Given the description of an element on the screen output the (x, y) to click on. 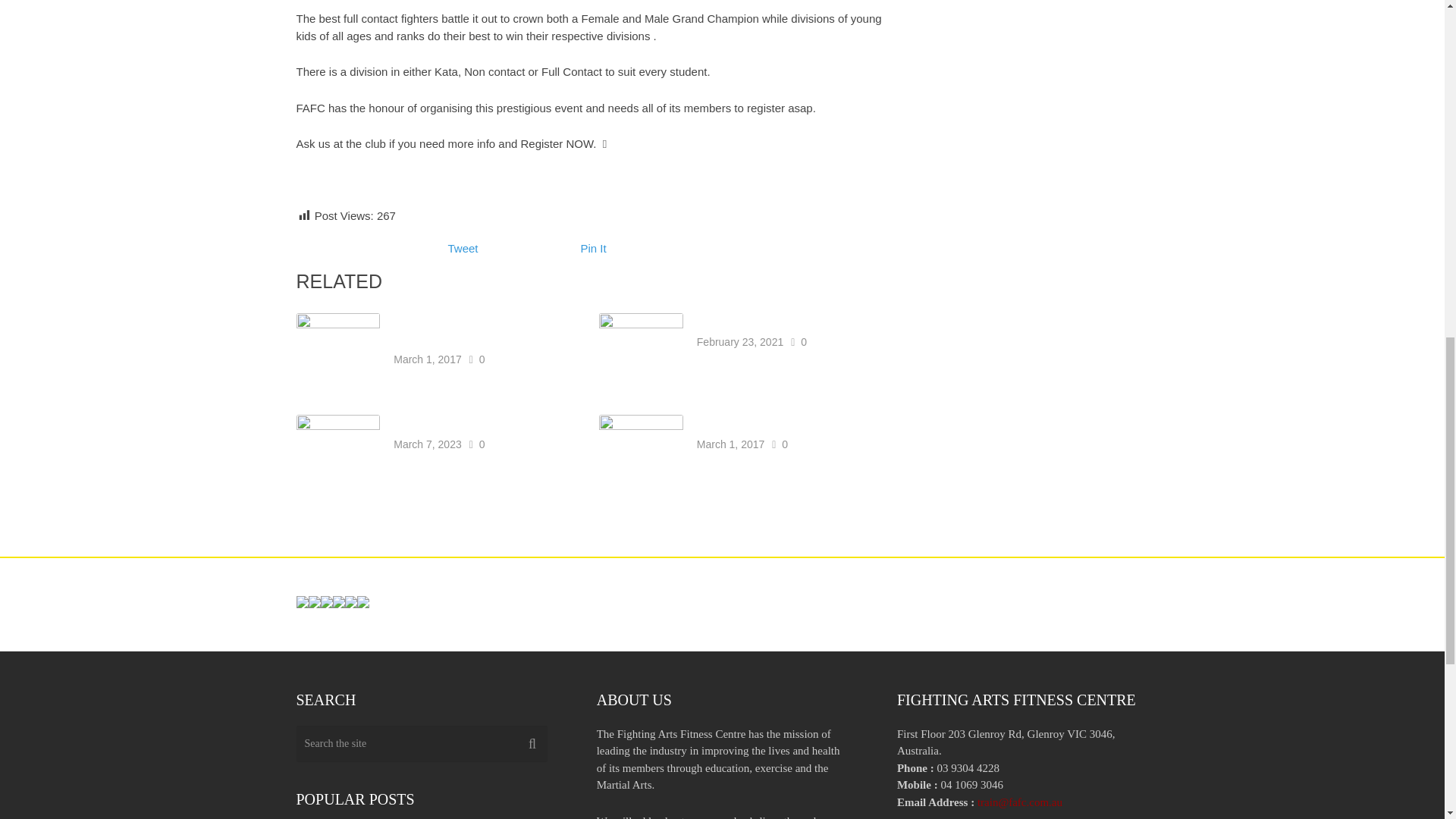
Pin It (593, 246)
Tweet (461, 246)
Free Kids Class Tonight Only (773, 317)
BJJ HYBRID COMPETITION (778, 419)
Free Kids Class Tonight Only (773, 317)
0 (481, 358)
Why Competition is important. (474, 419)
0 (481, 444)
WKO CHAMPIONSHIPS FEBRUARY 2017 (462, 326)
BJJ HYBRID COMPETITION (778, 419)
